Given the description of an element on the screen output the (x, y) to click on. 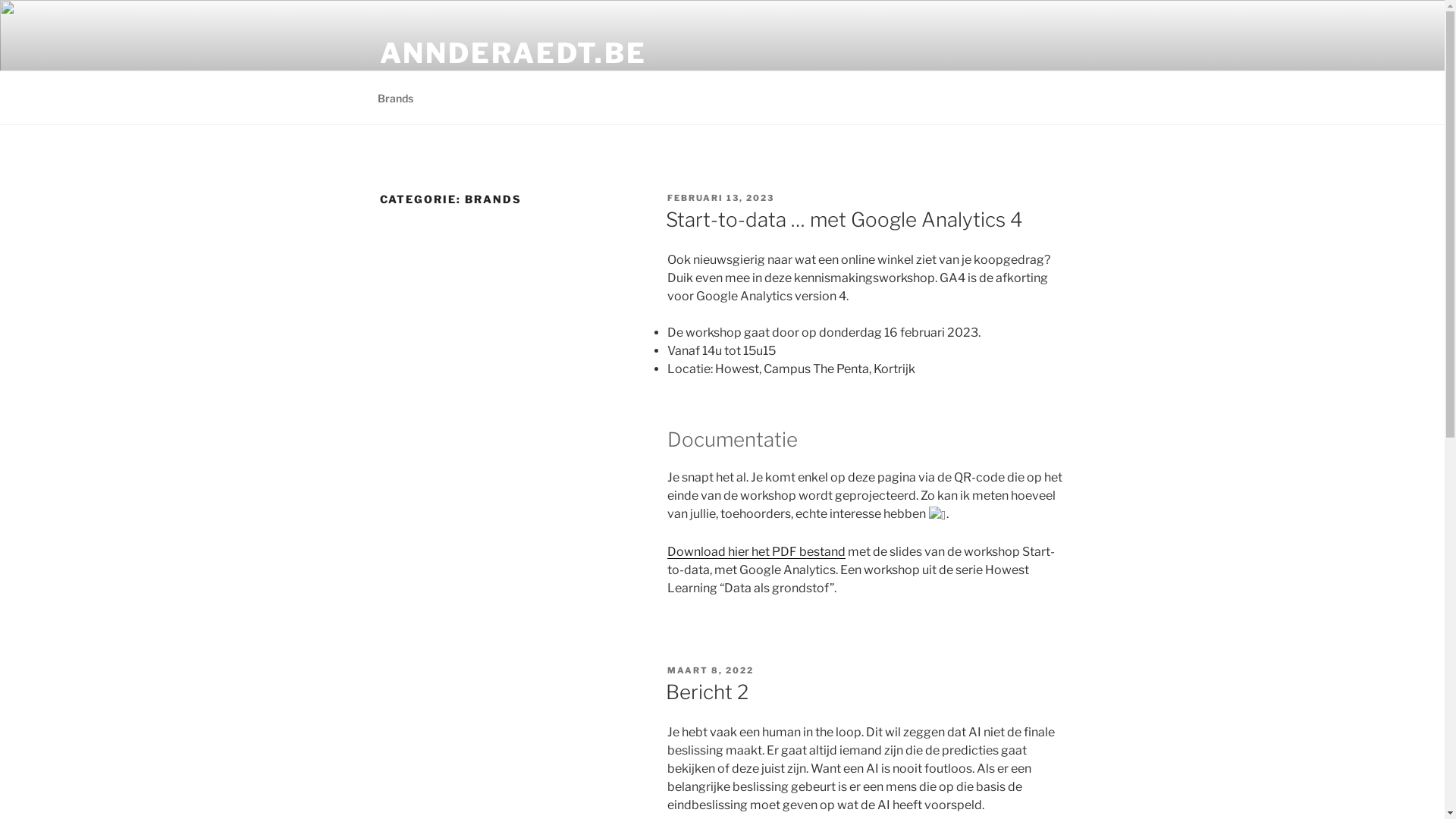
Download hier het PDF bestand Element type: text (756, 551)
Brands Element type: text (395, 97)
Bericht 2 Element type: text (706, 691)
MAART 8, 2022 Element type: text (710, 670)
FEBRUARI 13, 2023 Element type: text (720, 197)
ANNDERAEDT.BE Element type: text (512, 52)
